Given the description of an element on the screen output the (x, y) to click on. 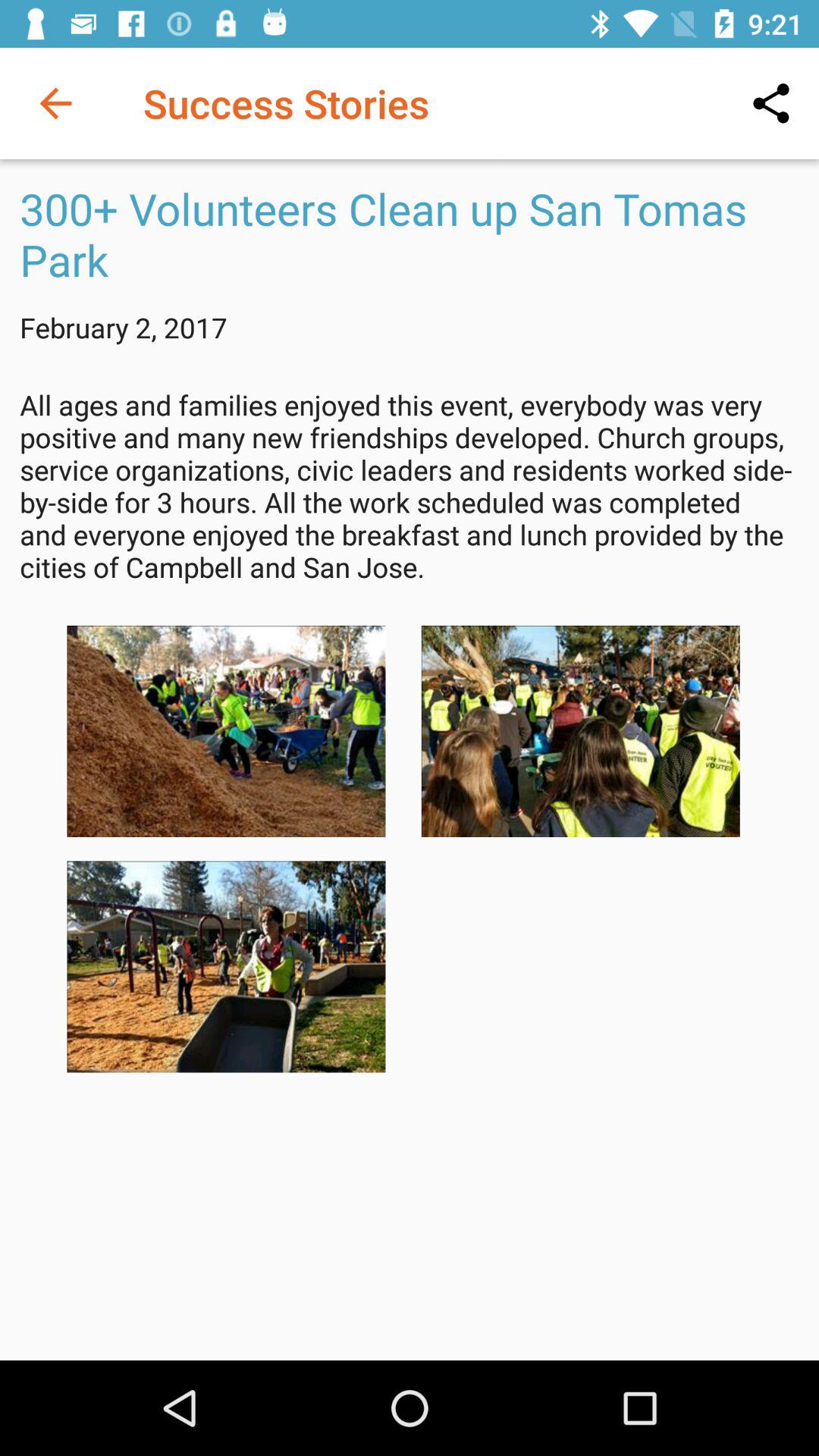
tap icon on the right (580, 731)
